Given the description of an element on the screen output the (x, y) to click on. 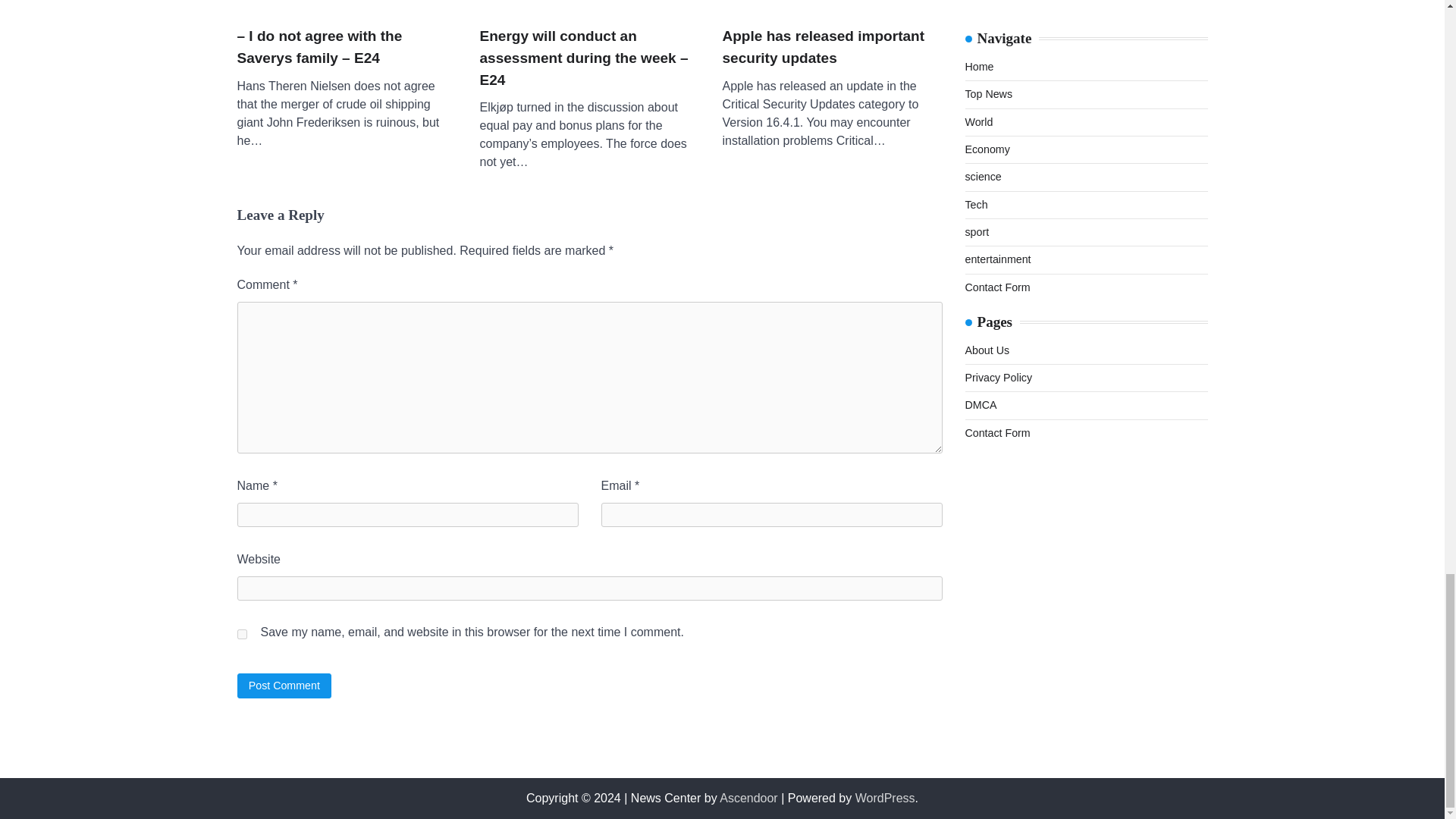
Apple has released important security updates (832, 46)
Post Comment (283, 685)
Apple has released important security updates (832, 5)
Post Comment (283, 685)
yes (240, 634)
